Given the description of an element on the screen output the (x, y) to click on. 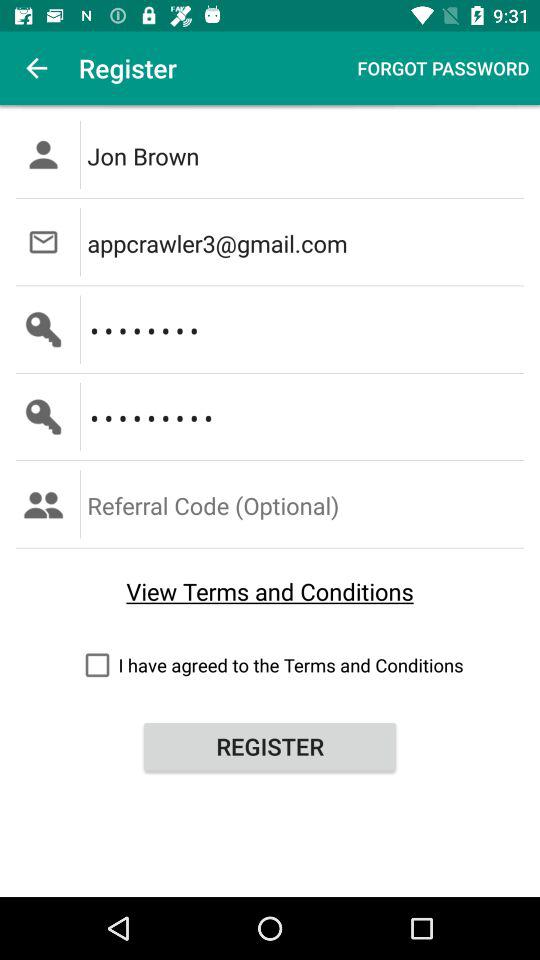
tap the item below the view terms and (269, 664)
